Given the description of an element on the screen output the (x, y) to click on. 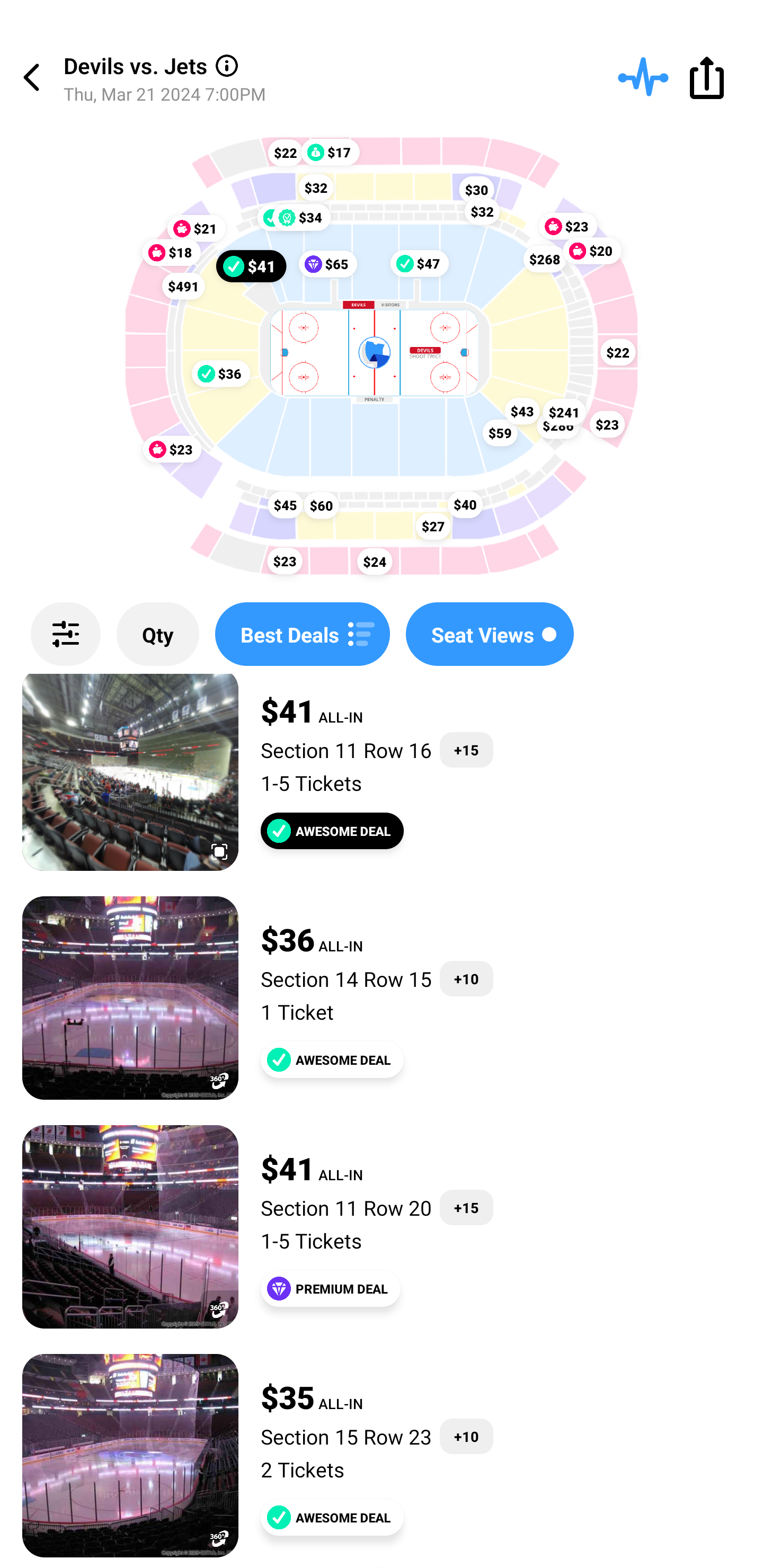
$41 (250, 265)
$47 (419, 263)
$65 (328, 263)
$43 (522, 411)
$59 (499, 432)
Qty (157, 634)
Best Deals (302, 634)
Seat Views (489, 634)
+15 (466, 750)
AWESOME DEAL (331, 830)
+10 (466, 978)
AWESOME DEAL (331, 1059)
+15 (466, 1207)
PREMIUM DEAL (330, 1288)
+10 (466, 1436)
AWESOME DEAL (331, 1517)
